Given the description of an element on the screen output the (x, y) to click on. 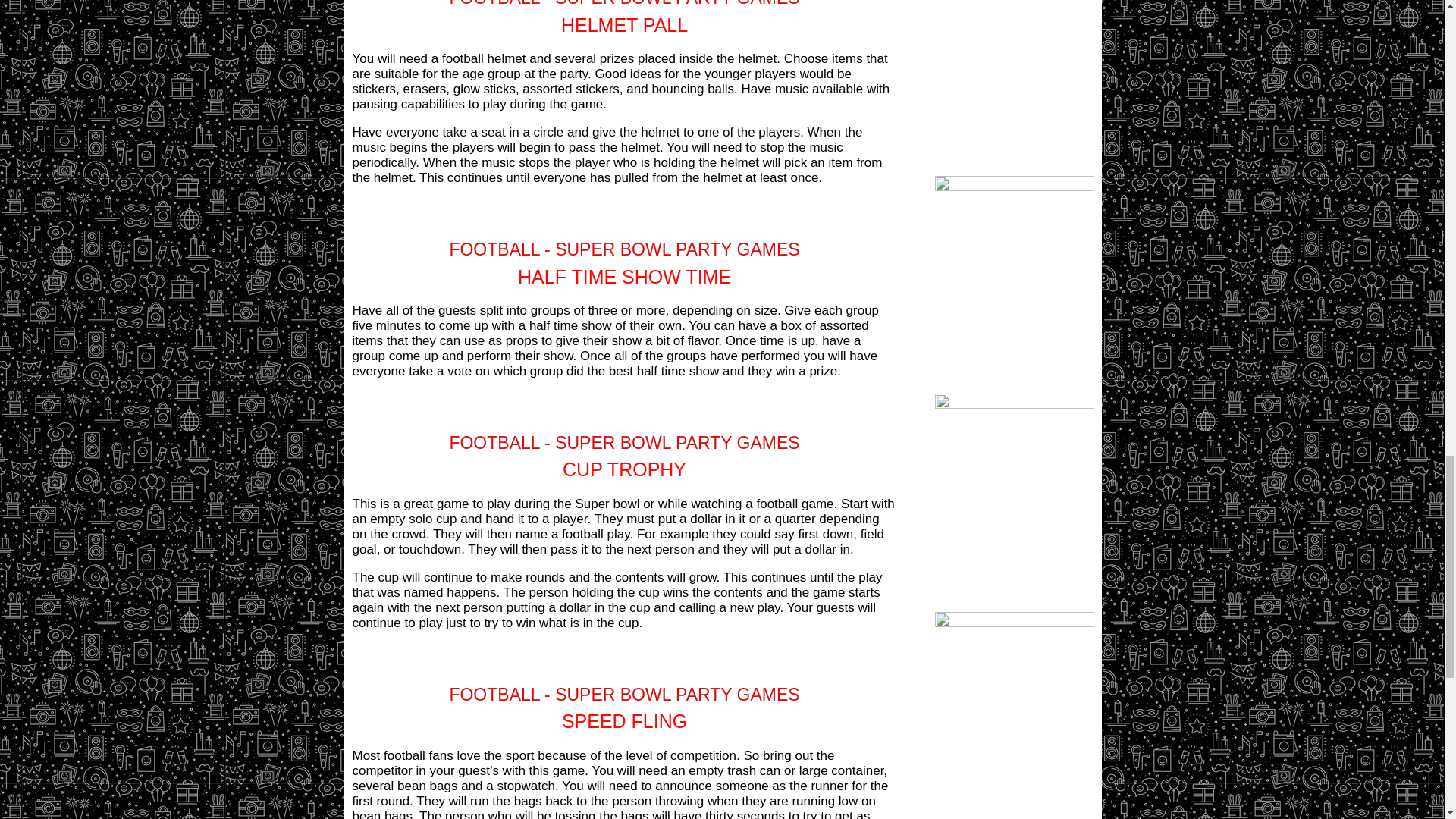
Go to Minecraft Party Game - Printable Scavenger Hunt! (1013, 622)
Go to Truth or Shots - Fun Drinking Game - Printable Cards (1013, 404)
